Given the description of an element on the screen output the (x, y) to click on. 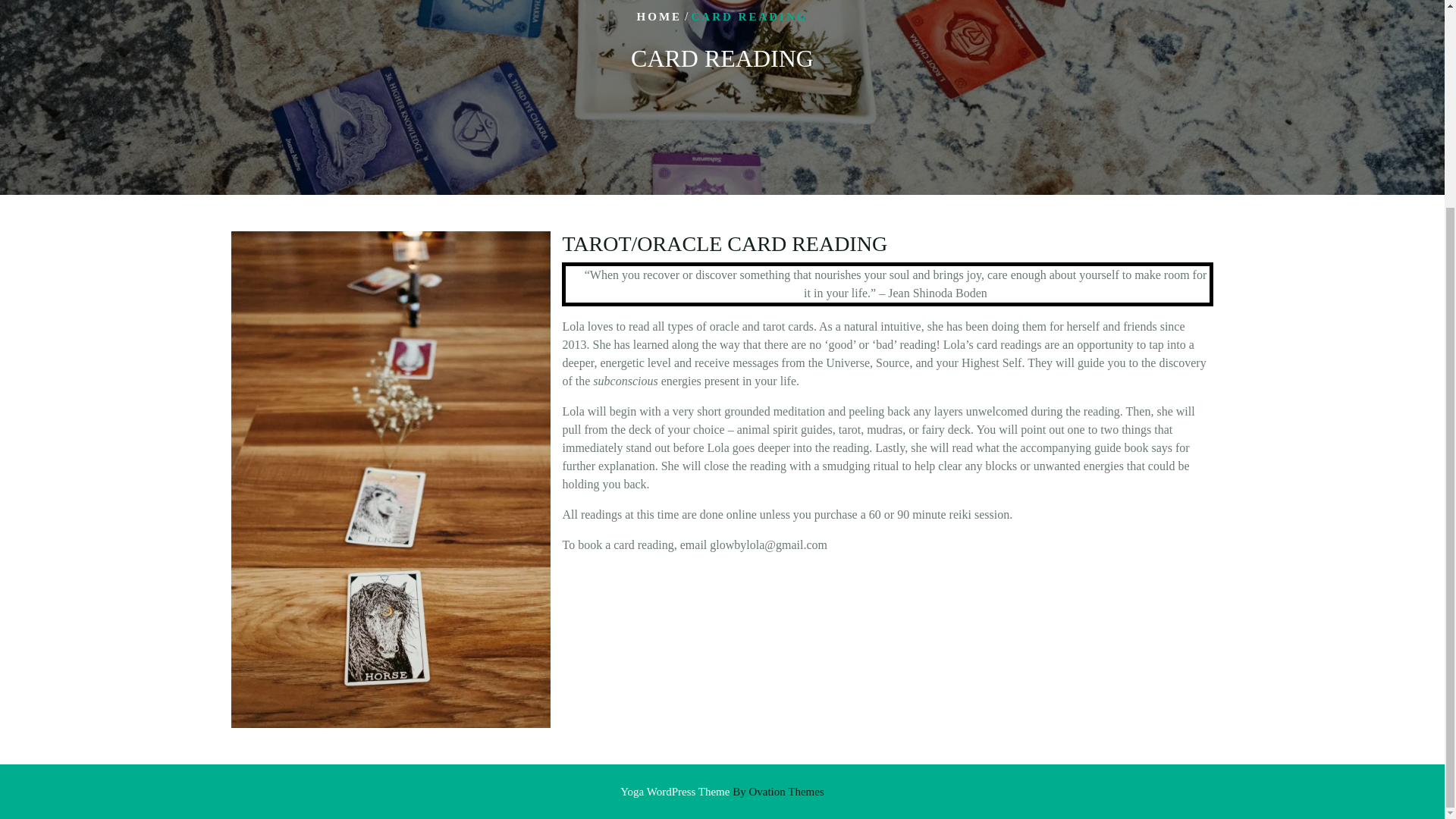
HOME (659, 16)
Yoga WordPress Theme By Ovation Themes (722, 790)
